Given the description of an element on the screen output the (x, y) to click on. 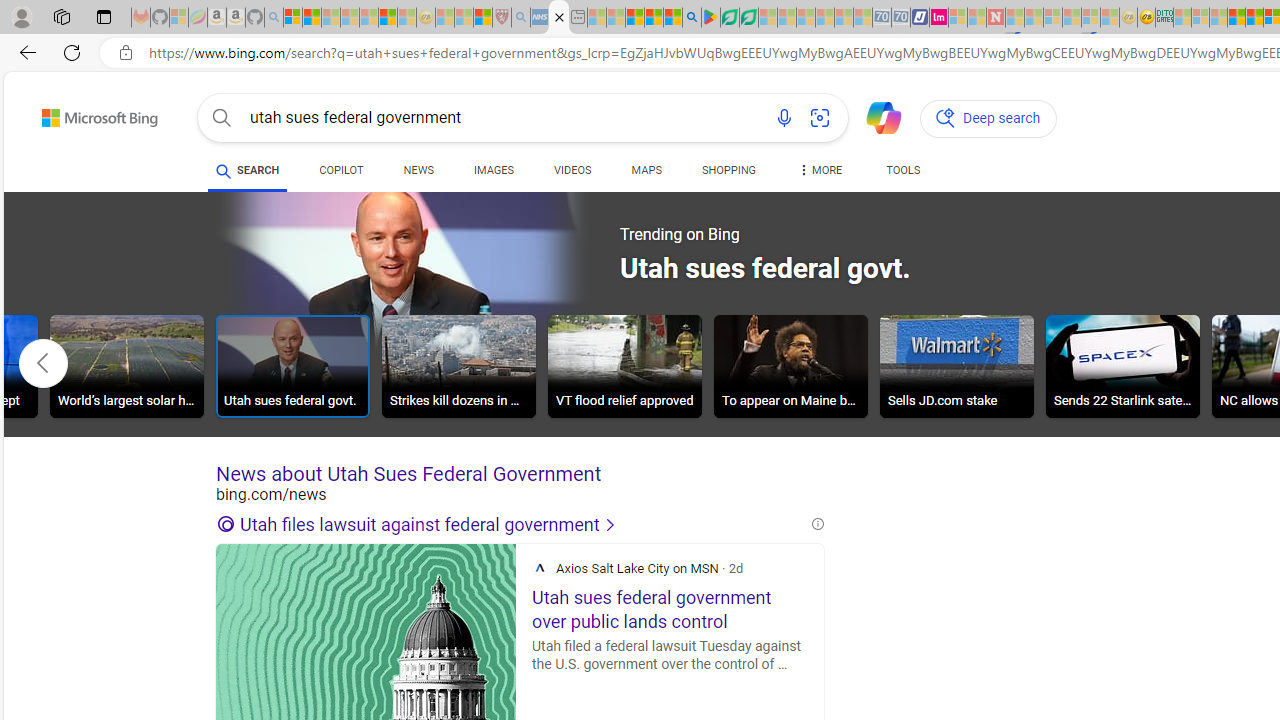
News about Utah Sues Federal Government (520, 474)
Search button (221, 117)
SEARCH (247, 170)
utah sues federal government - Search (559, 17)
SEARCH (247, 170)
TOOLS (903, 170)
Axios Salt Lake City on MSN (539, 568)
